Given the description of an element on the screen output the (x, y) to click on. 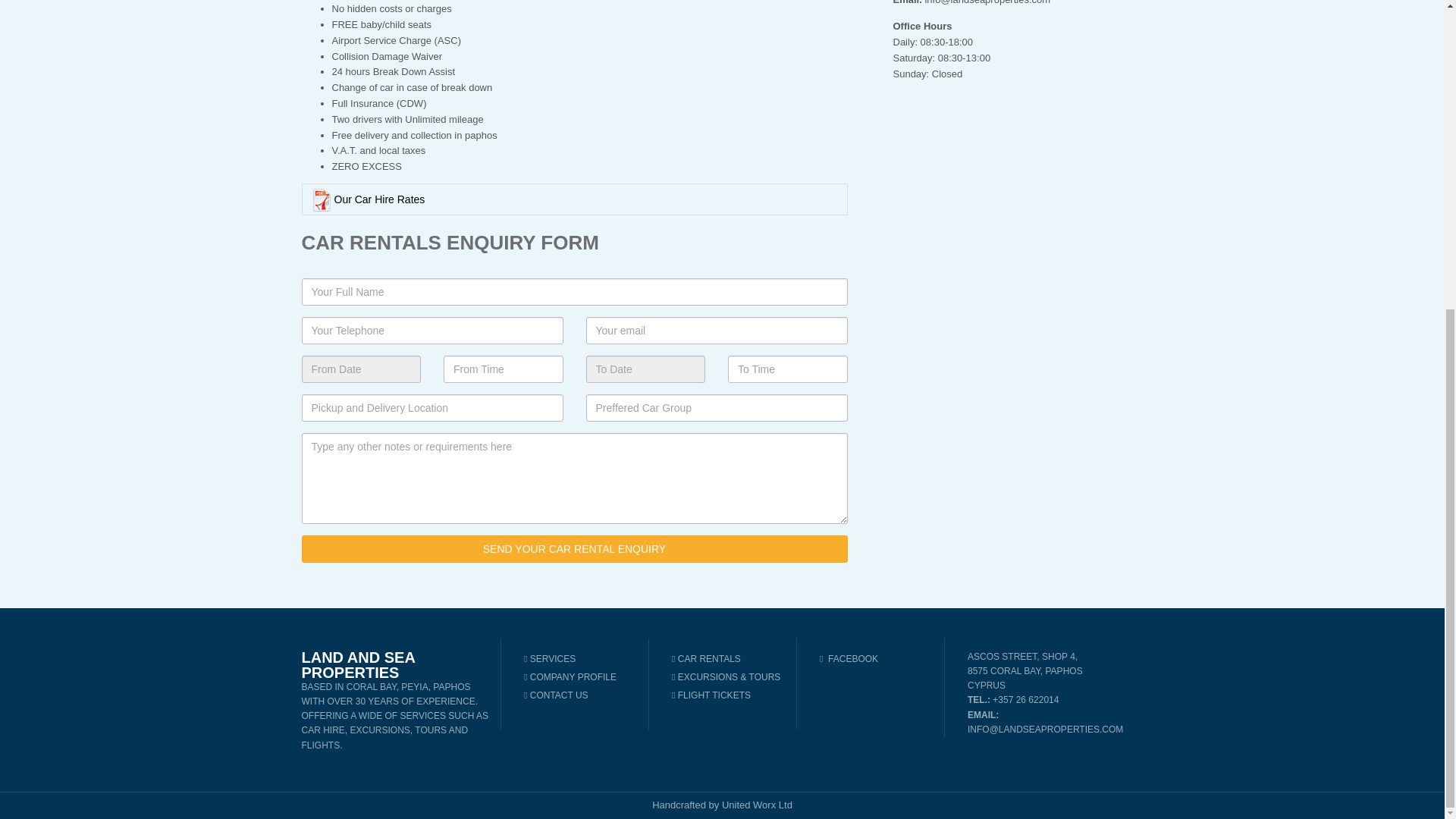
Handcrafted by United Worx Ltd (722, 804)
SERVICES (580, 659)
  FACEBOOK (848, 658)
SEND YOUR CAR RENTAL ENQUIRY (574, 548)
COMPANY PROFILE (580, 677)
CAR RENTALS (727, 659)
Our Car Hire Rates (574, 199)
FLIGHT TICKETS (727, 695)
CONTACT US (580, 695)
